Given the description of an element on the screen output the (x, y) to click on. 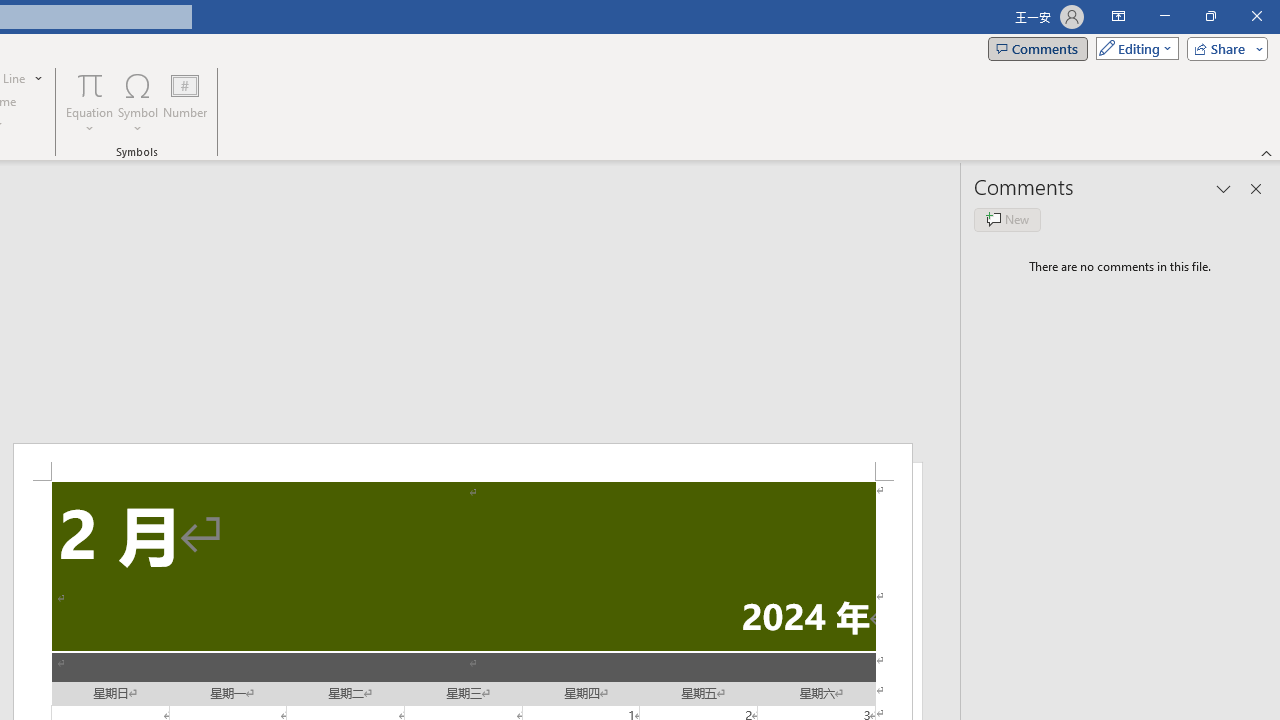
Equation (90, 84)
